Given the description of an element on the screen output the (x, y) to click on. 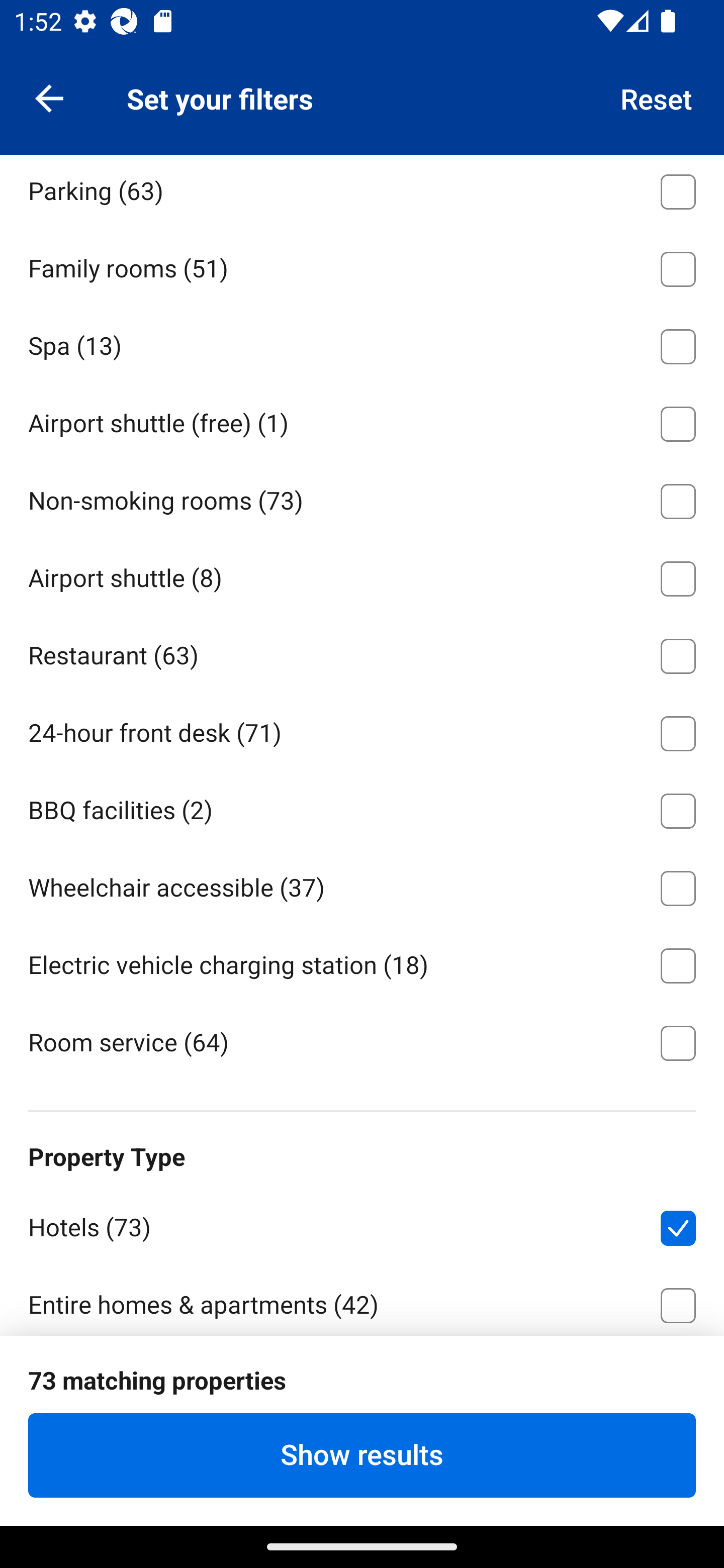
Navigate up (49, 97)
Reset (656, 97)
Pet friendly ⁦(9) (361, 111)
Parking ⁦(63) (361, 191)
Family rooms ⁦(51) (361, 265)
Spa ⁦(13) (361, 343)
Airport shuttle (free) ⁦(1) (361, 420)
Non-smoking rooms ⁦(73) (361, 497)
Airport shuttle ⁦(8) (361, 575)
Restaurant ⁦(63) (361, 652)
24-hour front desk ⁦(71) (361, 729)
BBQ facilities ⁦(2) (361, 807)
Wheelchair accessible ⁦(37) (361, 884)
Electric vehicle charging station ⁦(18) (361, 961)
Room service ⁦(64) (361, 1040)
Hotels ⁦(73) (361, 1224)
Entire homes & apartments ⁦(42) (361, 1299)
Family-Friendly Properties ⁦(3) (361, 1381)
Show results (361, 1454)
